Given the description of an element on the screen output the (x, y) to click on. 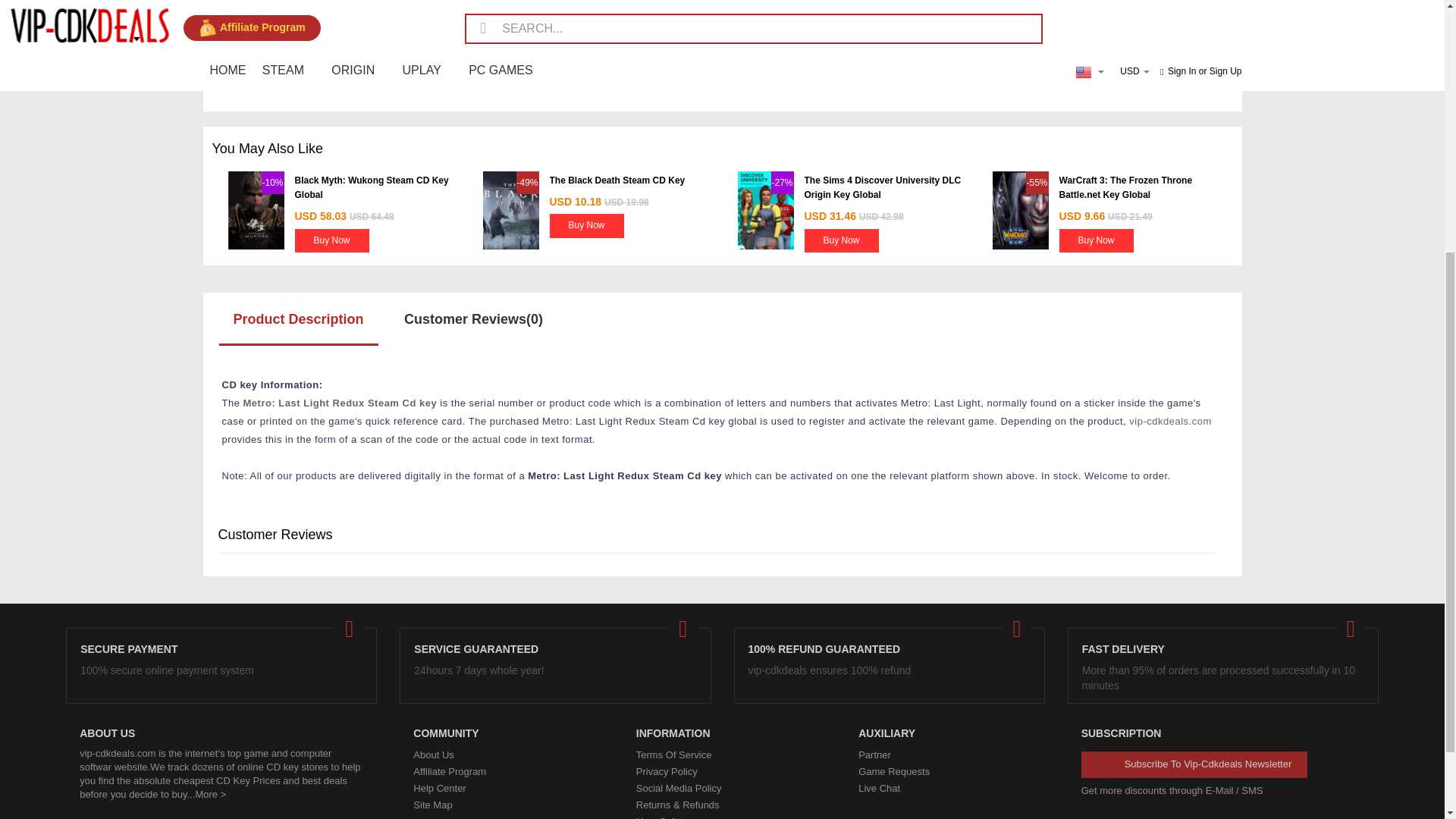
WarCraft 3: The Frozen Throne Battle.net Key Global (1125, 187)
Site Map (499, 805)
Product Description (298, 317)
About Us (499, 754)
The Sims 4 Discover University DLC Origin Key Global (881, 187)
Privacy Policy (722, 771)
vip-cdkdeals.com (1170, 420)
Terms Of Service (722, 754)
Affiliate Program (499, 771)
Metro: Last Light Redux Steam Cd key (340, 402)
Black Myth: Wukong Steam CD Key Global (371, 187)
Help Center (499, 788)
The Black Death Steam CD Key (616, 180)
